Given the description of an element on the screen output the (x, y) to click on. 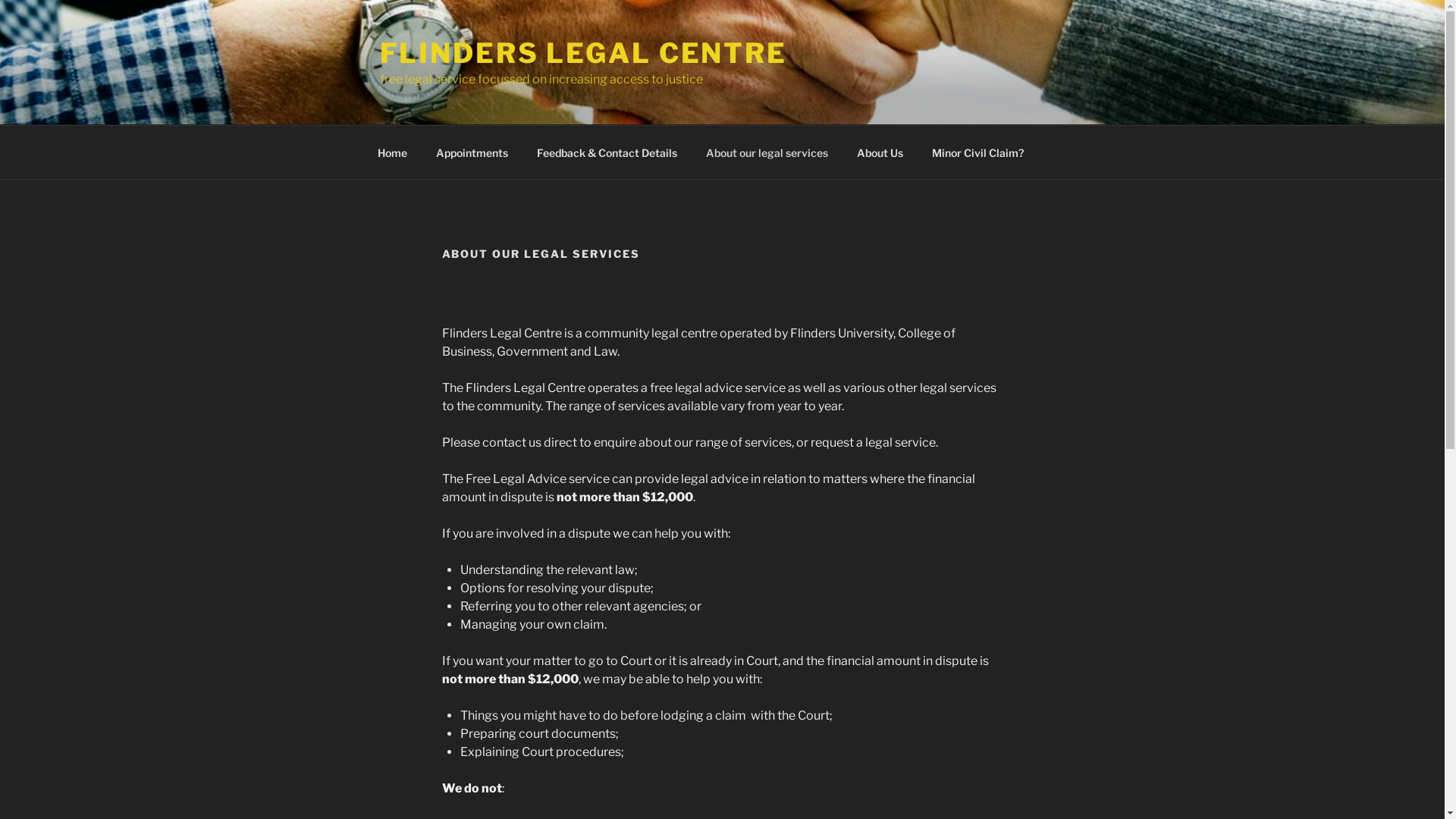
Home Element type: text (392, 151)
FLINDERS LEGAL CENTRE Element type: text (582, 52)
About our legal services Element type: text (767, 151)
About Us Element type: text (879, 151)
Minor Civil Claim? Element type: text (978, 151)
Feedback & Contact Details Element type: text (606, 151)
Appointments Element type: text (472, 151)
